Given the description of an element on the screen output the (x, y) to click on. 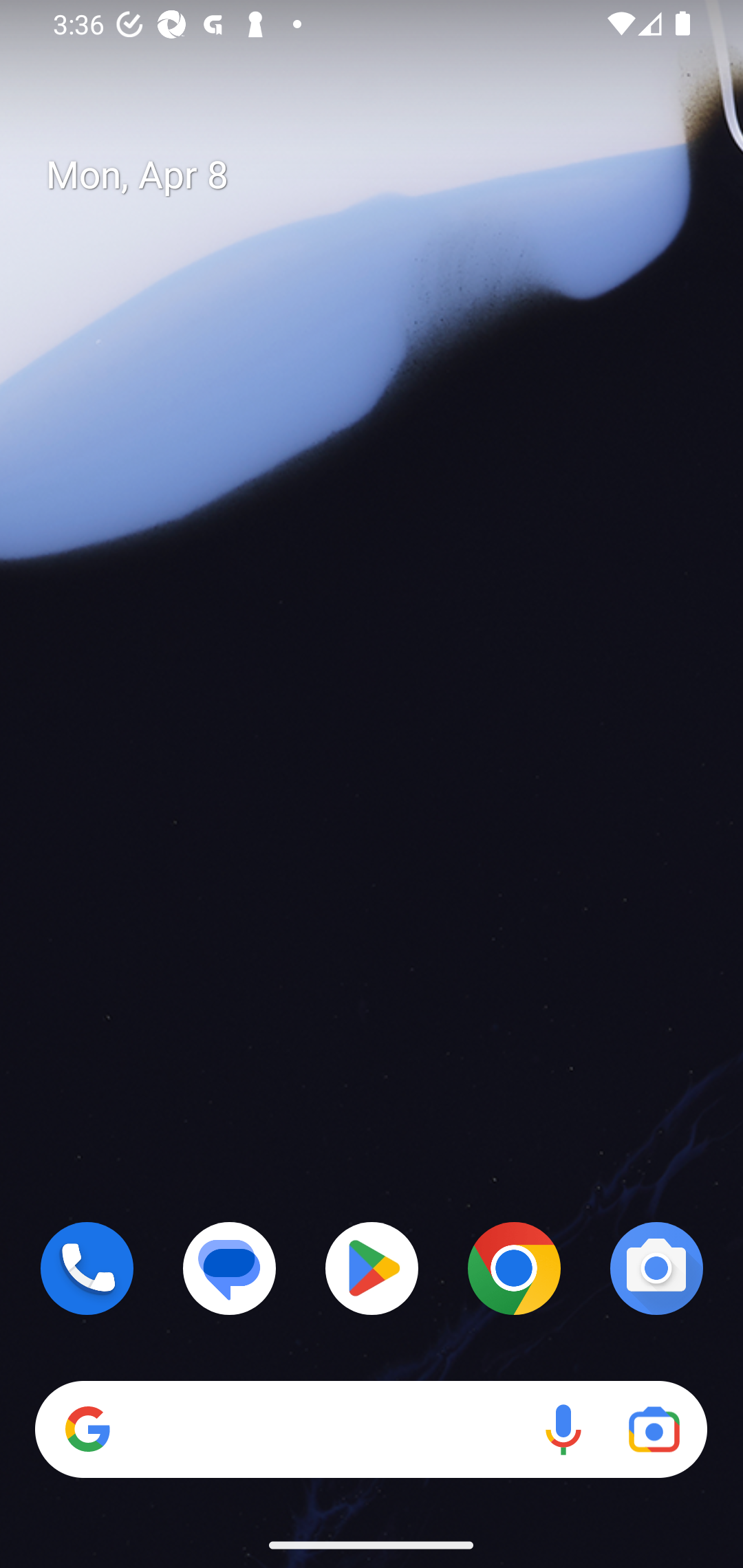
Mon, Apr 8 (386, 175)
Phone (86, 1268)
Messages (229, 1268)
Play Store (371, 1268)
Chrome (513, 1268)
Camera (656, 1268)
Search Voice search Google Lens (370, 1429)
Voice search (562, 1429)
Google Lens (653, 1429)
